Given the description of an element on the screen output the (x, y) to click on. 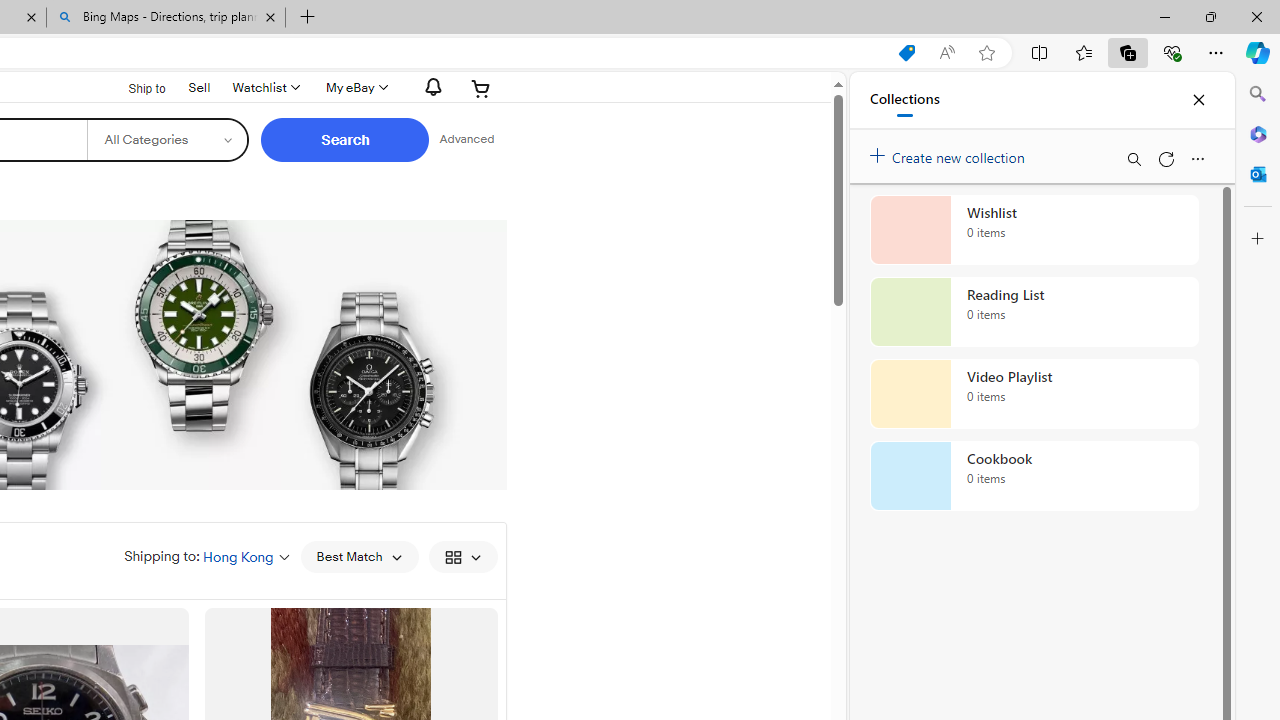
More options menu (1197, 158)
Watchlist (264, 88)
Ship to (134, 89)
Your shopping cart (481, 88)
Sell (199, 87)
Sell (199, 86)
Sort: Best Match (358, 556)
